Given the description of an element on the screen output the (x, y) to click on. 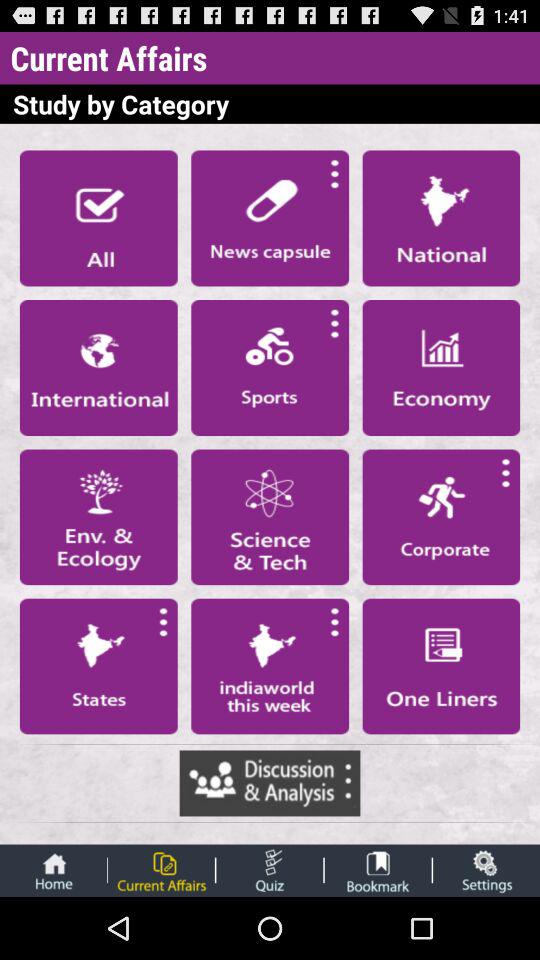
explore catagory (270, 517)
